Given the description of an element on the screen output the (x, y) to click on. 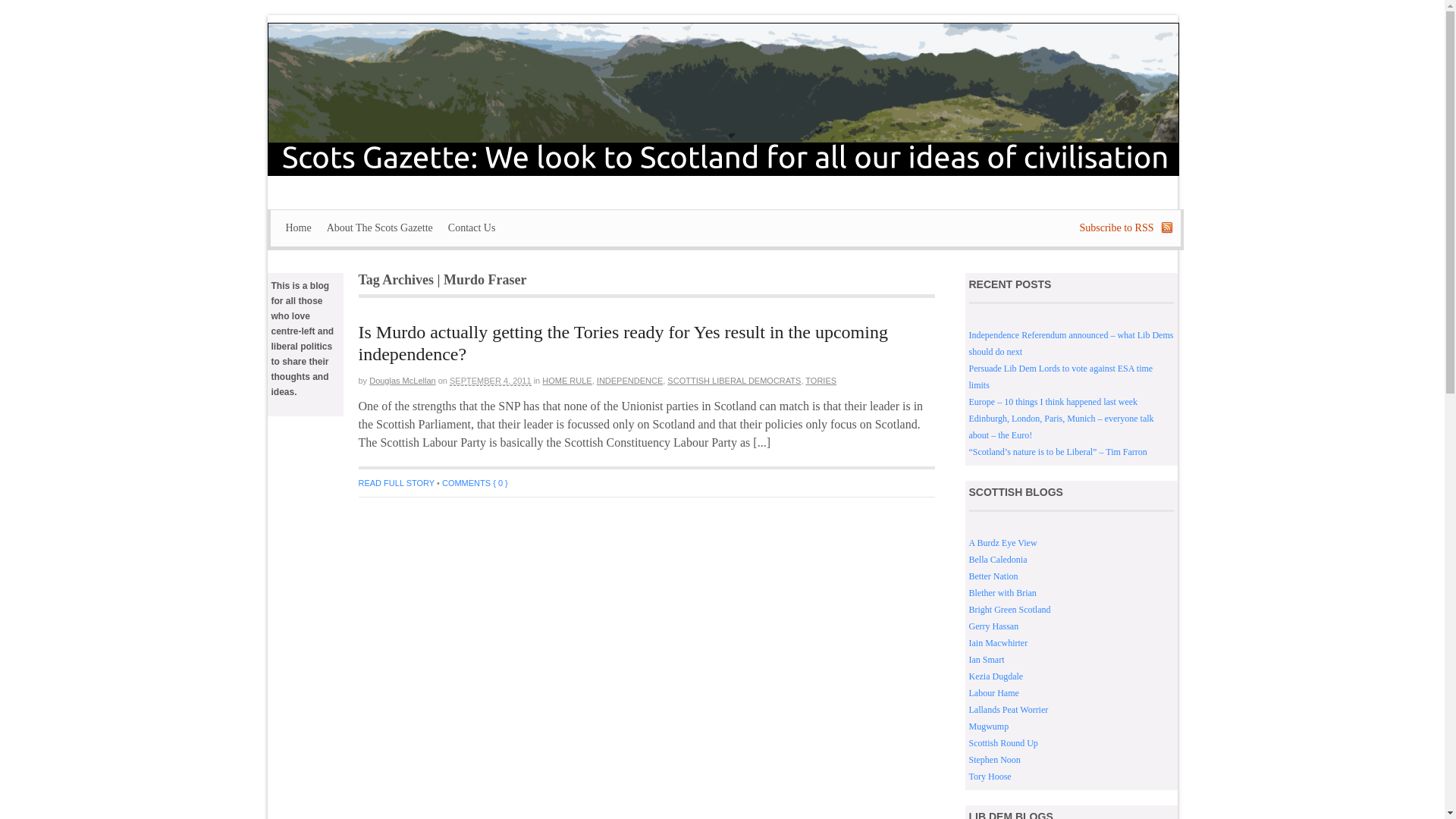
Gerry Hassan (994, 625)
Ian Smart (986, 659)
Persuade Lib Dem Lords to vote against ESA time limits (1061, 376)
Douglas McLellan (402, 379)
Contact Us (472, 228)
Persuade Lib Dem Lords to vote against ESA time limits (1061, 376)
Read full story (395, 482)
SCOTTISH LIBERAL DEMOCRATS (733, 379)
View all posts in Scottish Liberal Democrats (733, 379)
Blether with Brian (1002, 593)
HOME RULE (566, 379)
Bella Caledonia (998, 559)
READ FULL STORY (395, 482)
Stephen Noon (994, 759)
